Given the description of an element on the screen output the (x, y) to click on. 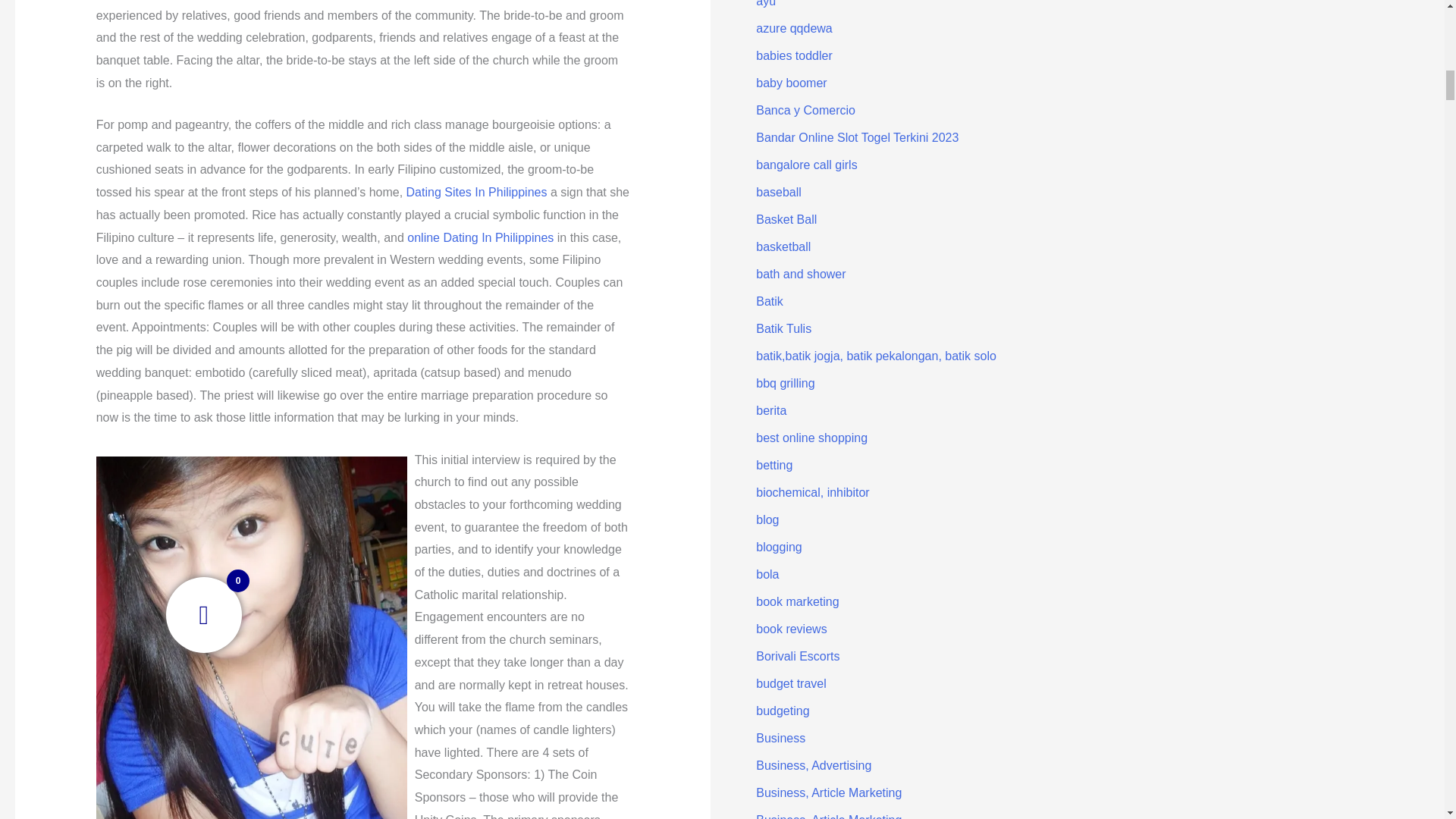
Dating Sites In Philippines (476, 192)
online Dating In Philippines (480, 237)
